Given the description of an element on the screen output the (x, y) to click on. 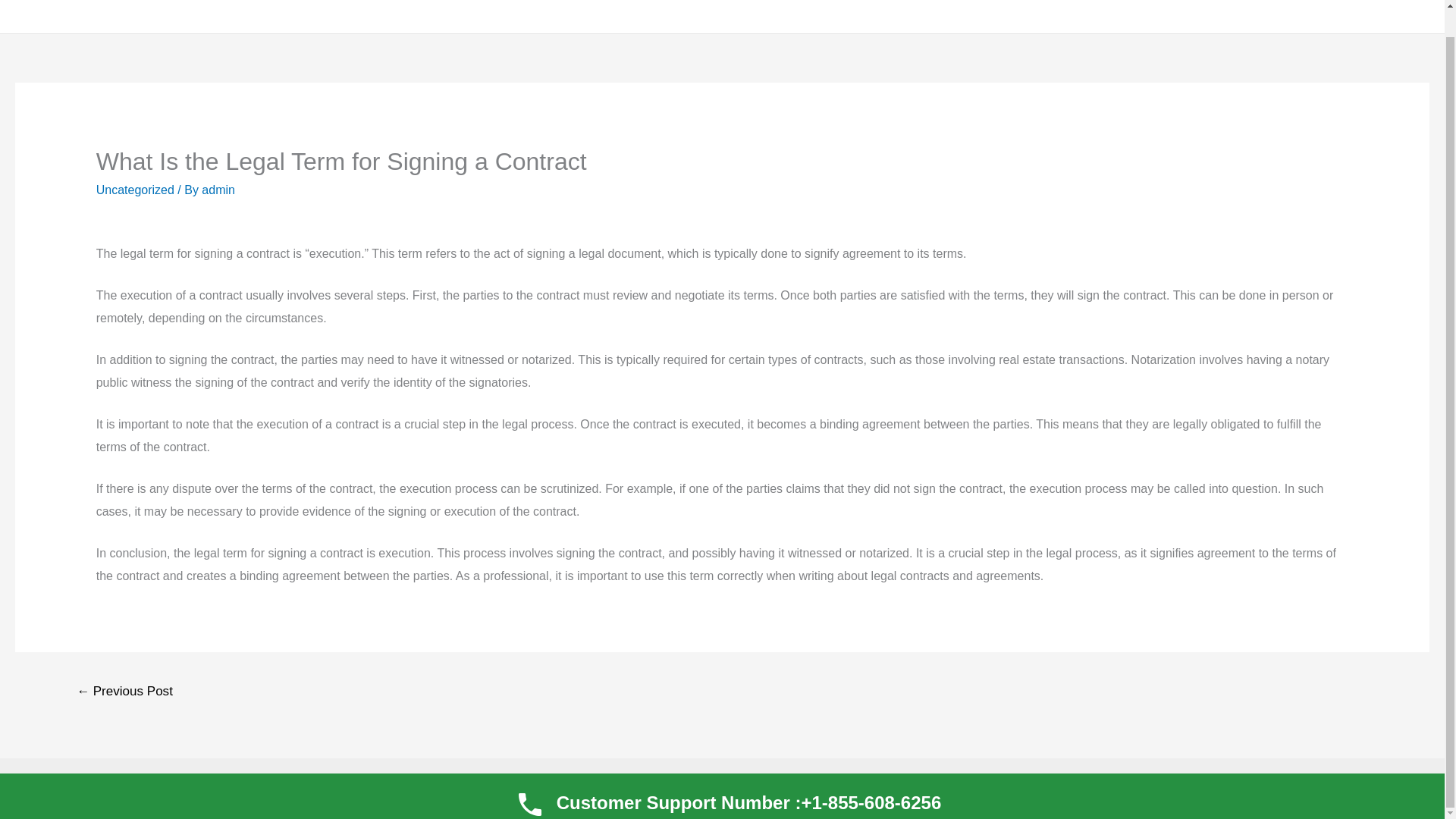
View all posts by admin (218, 189)
admin (218, 189)
Astra WordPress Theme (808, 788)
